Given the description of an element on the screen output the (x, y) to click on. 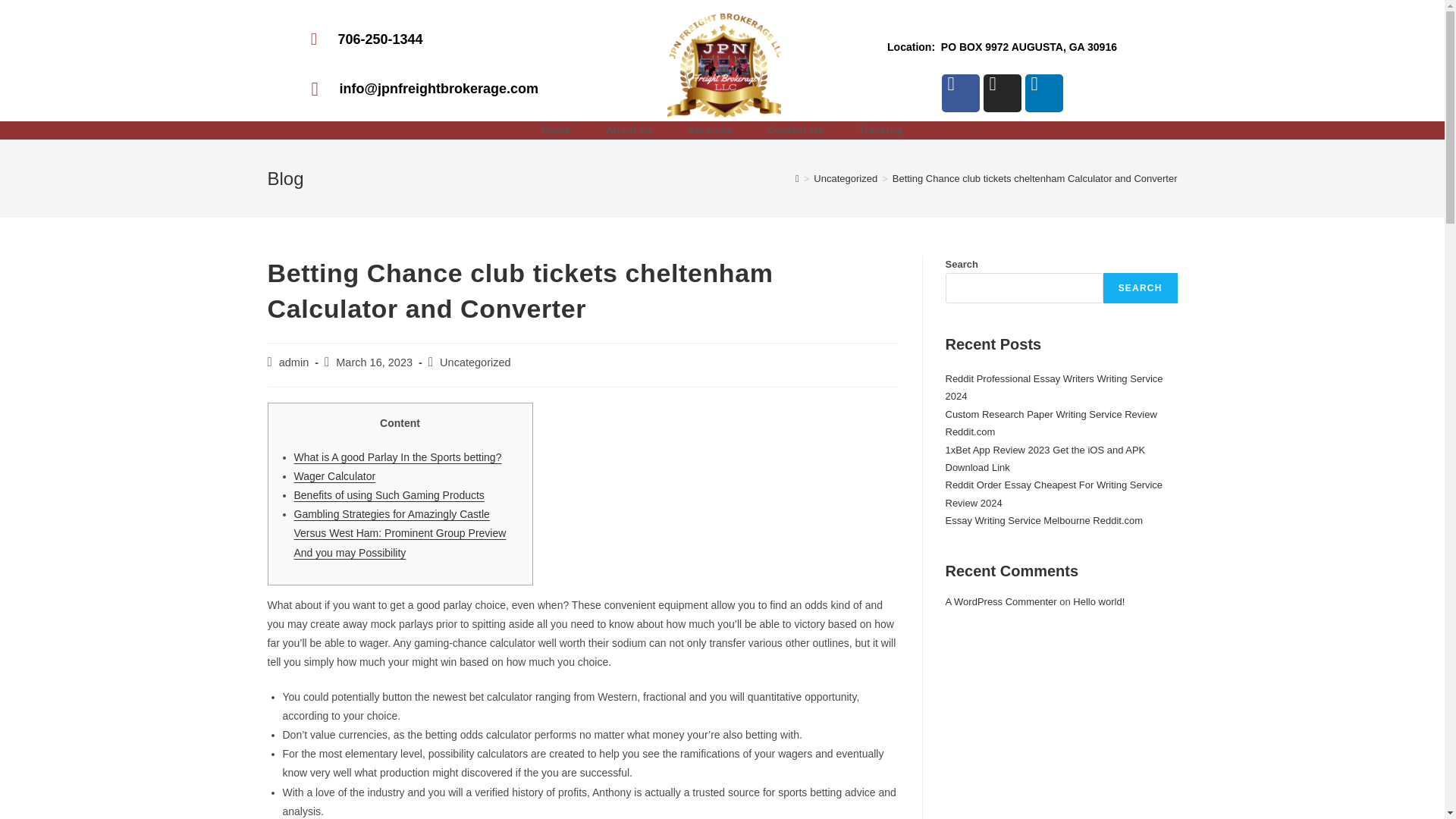
Custom Research Paper Writing Service Review Reddit.com (1050, 422)
What is A good Parlay In the Sports betting? (398, 457)
SEARCH (1140, 287)
Tracking (880, 130)
Wager Calculator (334, 476)
Uncategorized (845, 178)
Home (556, 130)
About Us (629, 130)
